Given the description of an element on the screen output the (x, y) to click on. 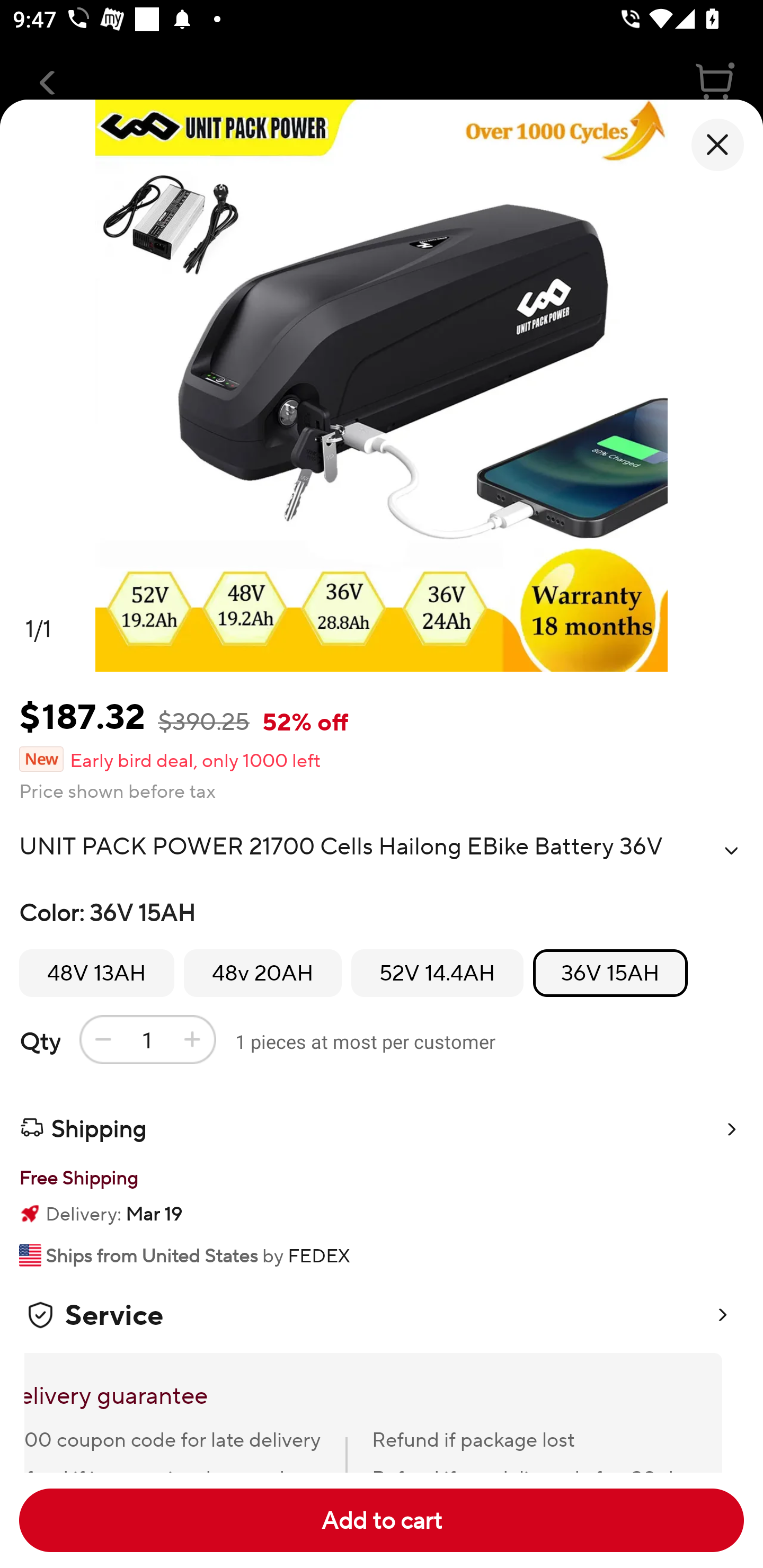
close  (717, 144)
 (730, 850)
48V 13AH (96, 972)
48v 20AH (262, 972)
52V 14.4AH (436, 972)
36V 15AH (610, 972)
Add to cart (381, 1520)
